Given the description of an element on the screen output the (x, y) to click on. 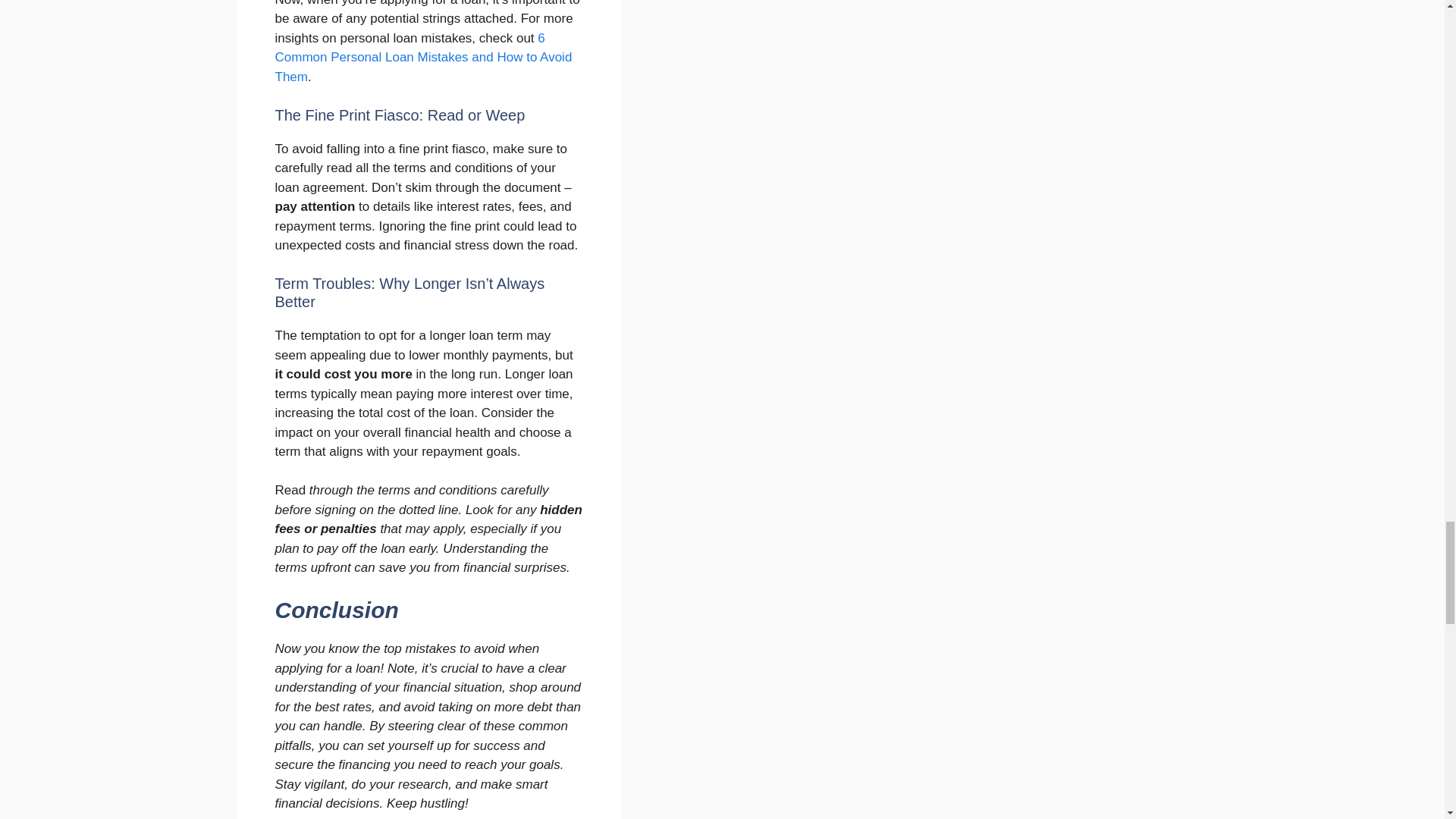
6 Common Personal Loan Mistakes and How to Avoid Them (423, 57)
